Given the description of an element on the screen output the (x, y) to click on. 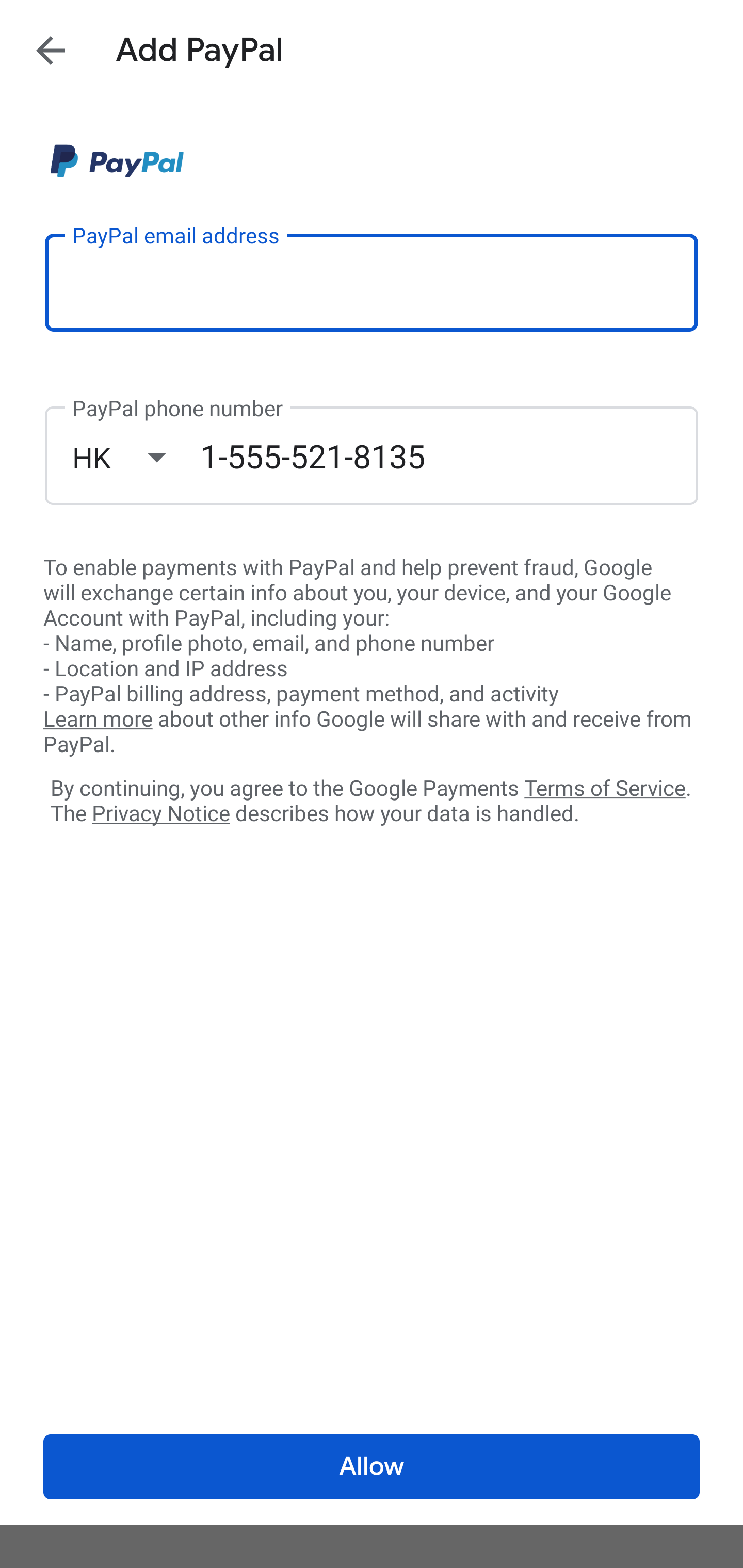
Navigate up (50, 50)
PayPal email address (371, 282)
HK (135, 456)
Learn more (97, 719)
Terms of Service (604, 787)
Privacy Notice (160, 814)
Allow (371, 1466)
